Given the description of an element on the screen output the (x, y) to click on. 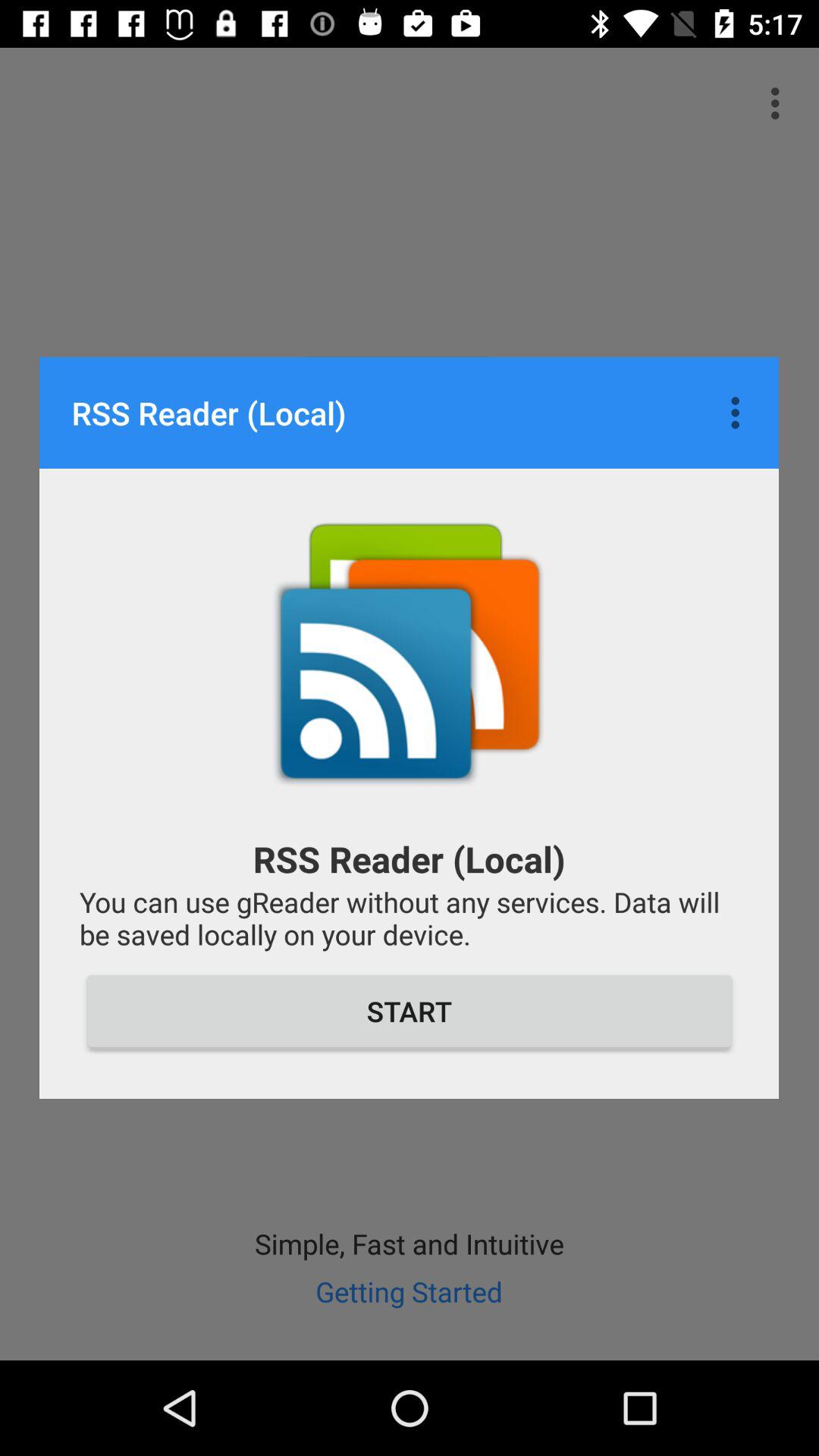
open start item (409, 1011)
